Given the description of an element on the screen output the (x, y) to click on. 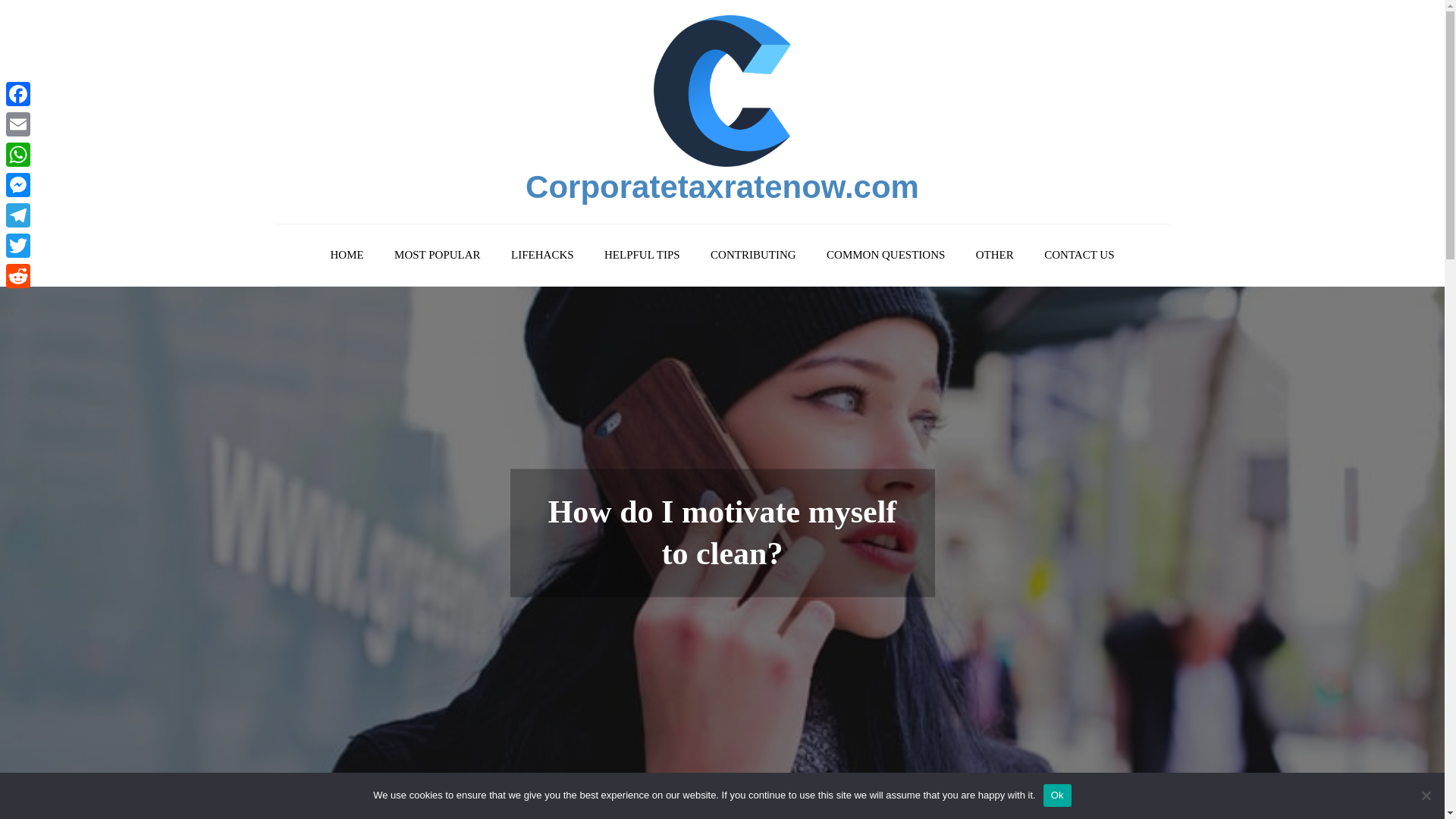
Telegram (17, 214)
CONTRIBUTING (753, 255)
OTHER (994, 255)
LIFEHACKS (542, 255)
Twitter (17, 245)
WhatsApp (17, 154)
Messenger (17, 184)
HOME (346, 255)
HELPFUL TIPS (642, 255)
Email (17, 123)
WhatsApp (17, 154)
Facebook (17, 93)
No (1425, 795)
COMMON QUESTIONS (885, 255)
Reddit (17, 276)
